Given the description of an element on the screen output the (x, y) to click on. 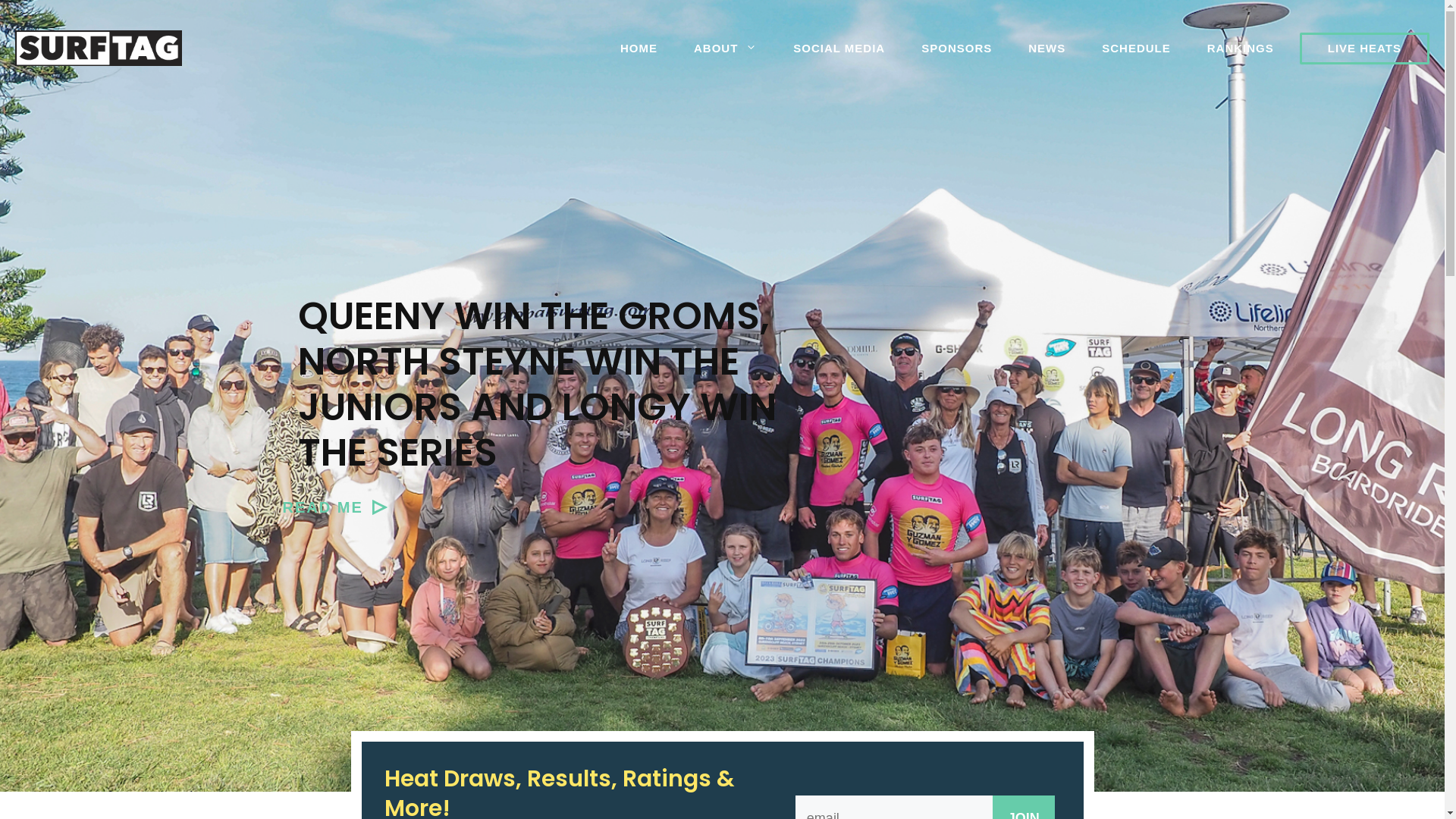
LIVE HEATS Element type: text (1364, 48)
SCHEDULE Element type: text (1136, 48)
SPONSORS Element type: text (956, 48)
READ ME Element type: text (334, 506)
RANKINGS Element type: text (1240, 48)
SOCIAL MEDIA Element type: text (839, 48)
NEWS Element type: text (1046, 48)
ABOUT Element type: text (725, 48)
HOME Element type: text (638, 48)
